Given the description of an element on the screen output the (x, y) to click on. 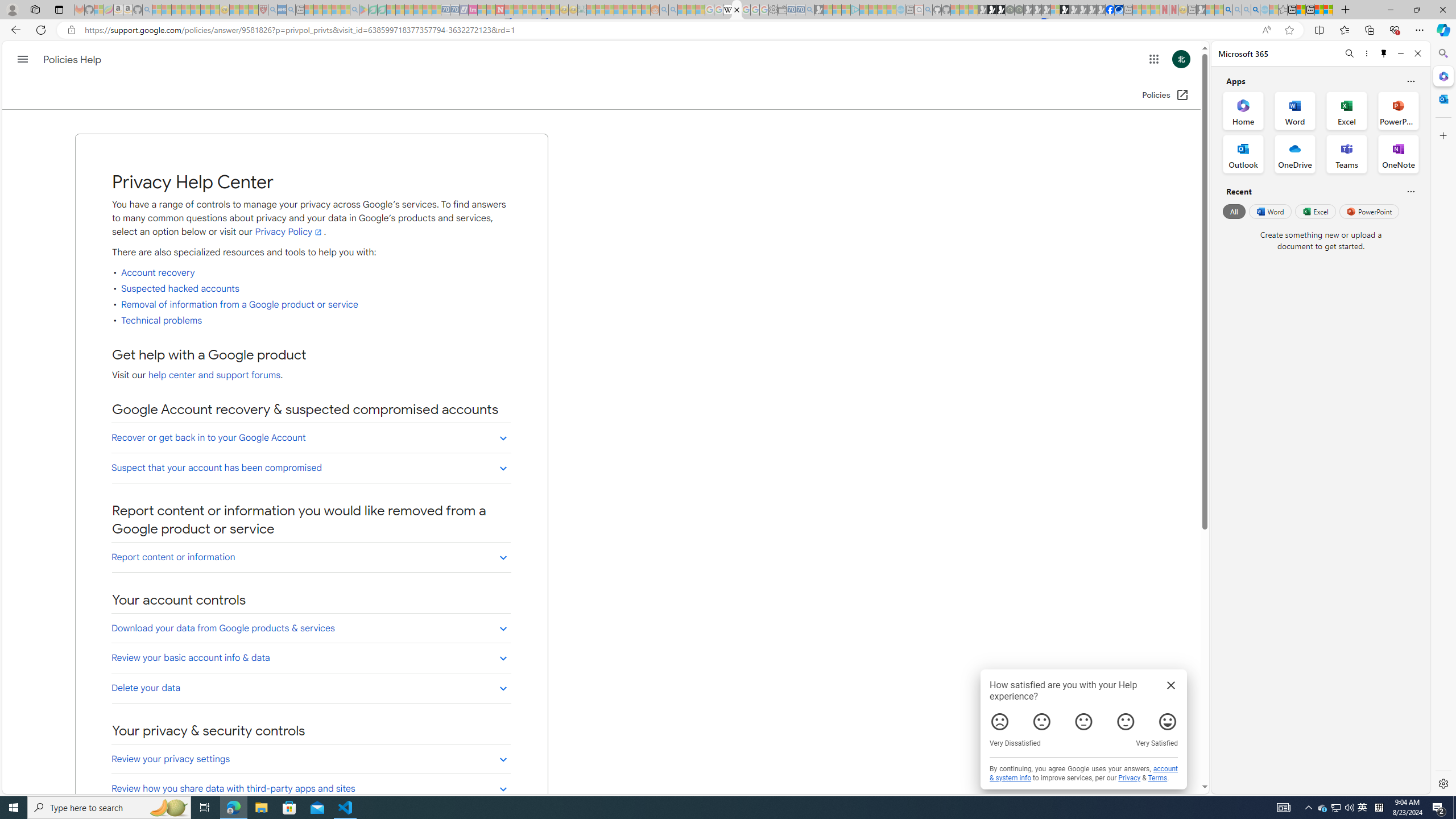
Aberdeen, Hong Kong SAR weather forecast | Microsoft Weather (1300, 9)
Nordace | Facebook (1109, 9)
Account recovery (157, 272)
help center and support forums (214, 374)
OneNote Office App (1398, 154)
